Given the description of an element on the screen output the (x, y) to click on. 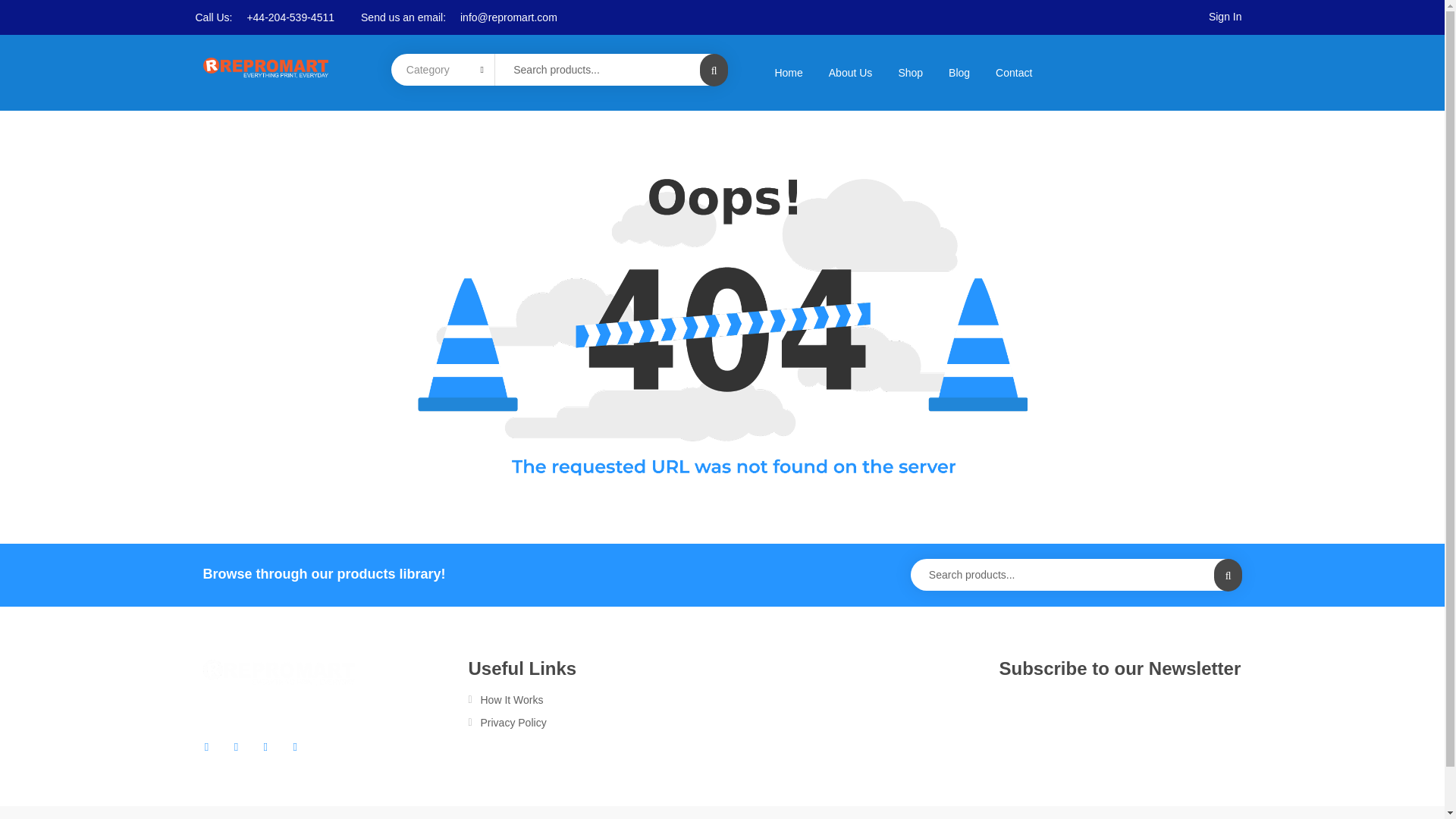
Log in (477, 494)
Contact (1013, 72)
Sign In (1224, 16)
About Us (850, 72)
How It Works (593, 699)
Blog (959, 72)
Home (788, 72)
Privacy Policy (593, 722)
Shop (910, 72)
Register (815, 565)
